Given the description of an element on the screen output the (x, y) to click on. 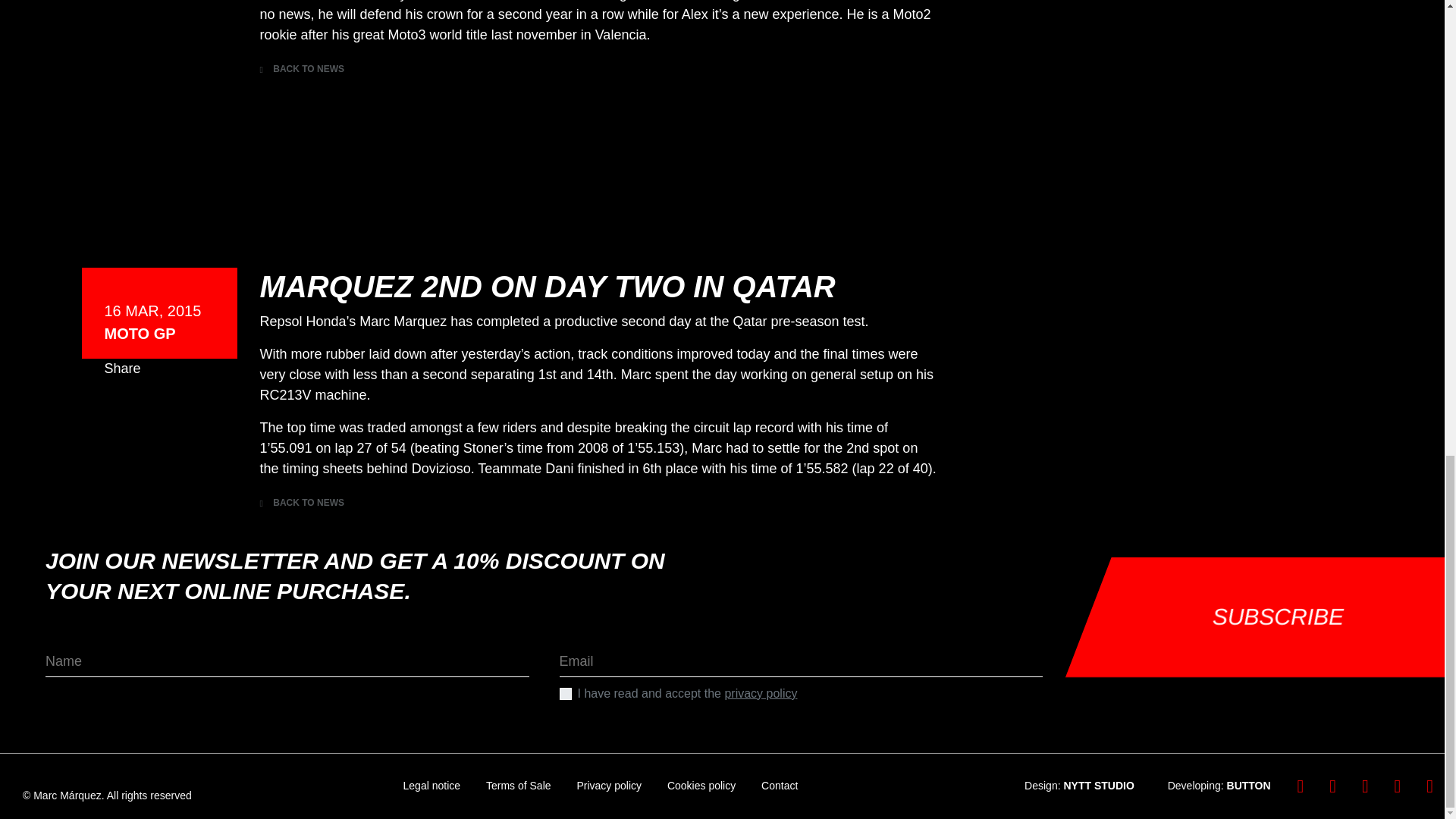
Share on Twitter (146, 10)
Share on WhatsApp (178, 411)
Share on Facebook (116, 10)
BACK TO NEWS (301, 502)
BACK TO NEWS (301, 69)
Share on Twitter (146, 411)
Share on Facebook (116, 411)
Share on WhatsApp (178, 10)
